Given the description of an element on the screen output the (x, y) to click on. 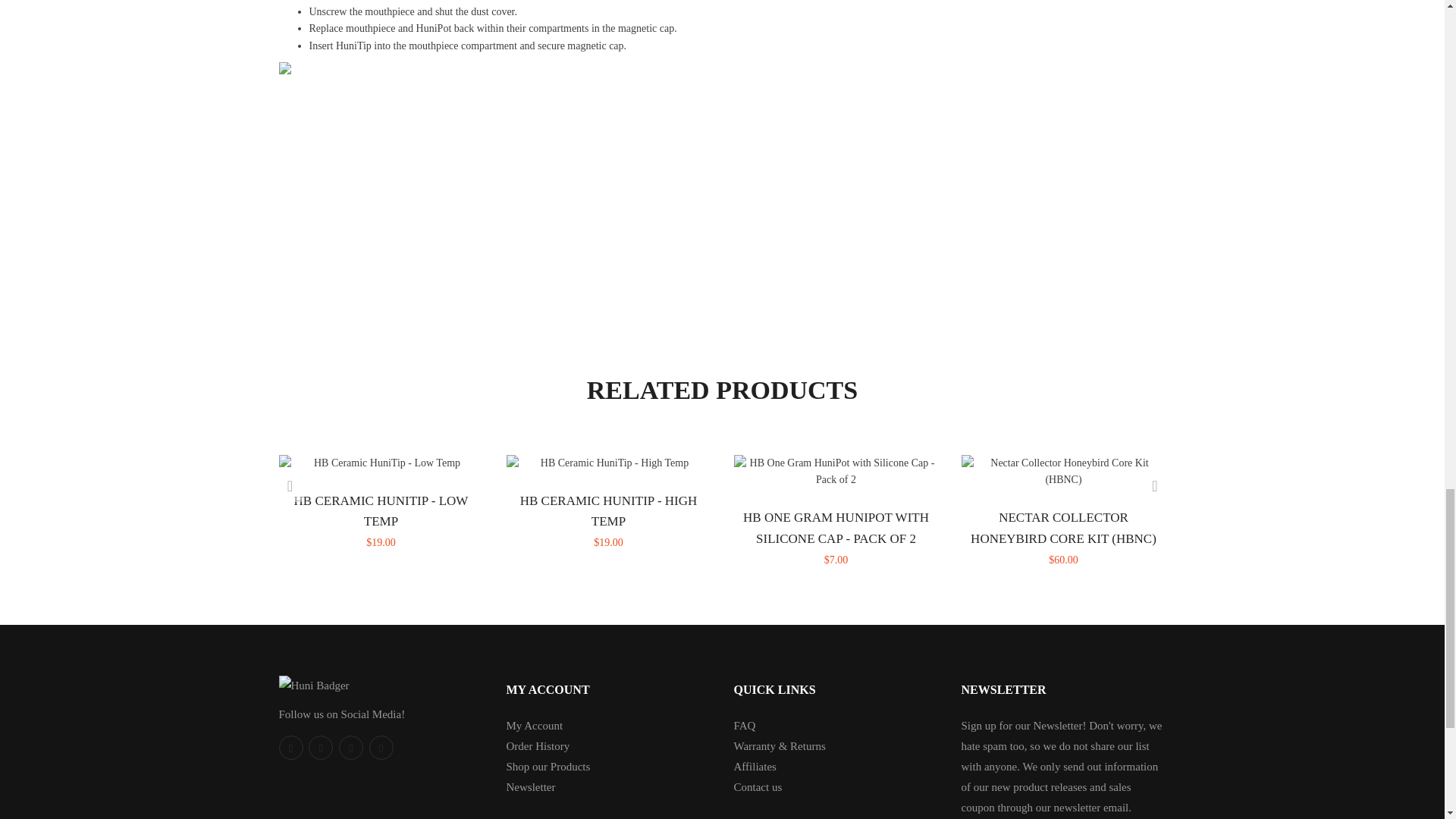
YouTube video player (430, 171)
